Given the description of an element on the screen output the (x, y) to click on. 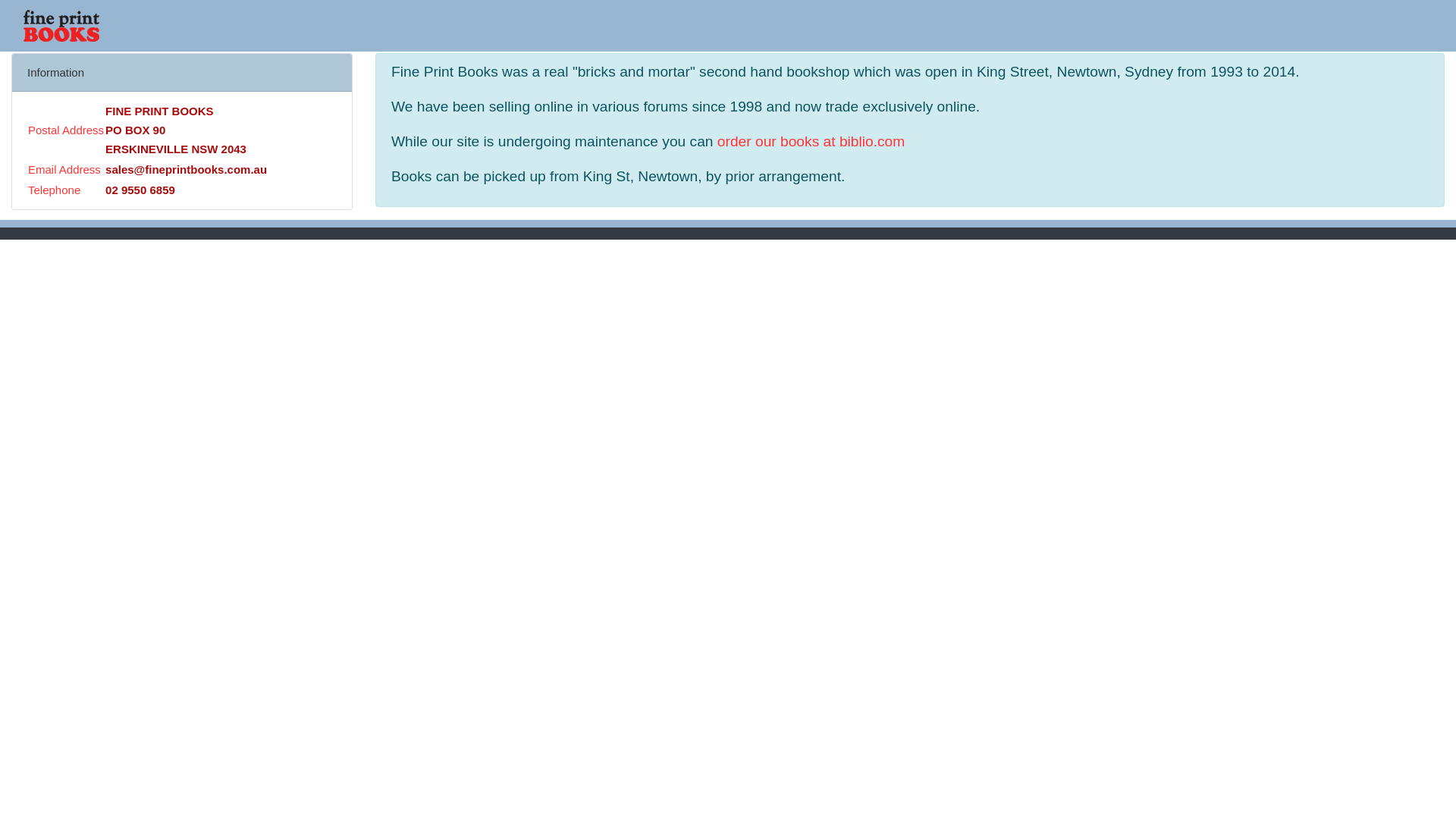
order our books at biblio.com Element type: text (810, 141)
